Given the description of an element on the screen output the (x, y) to click on. 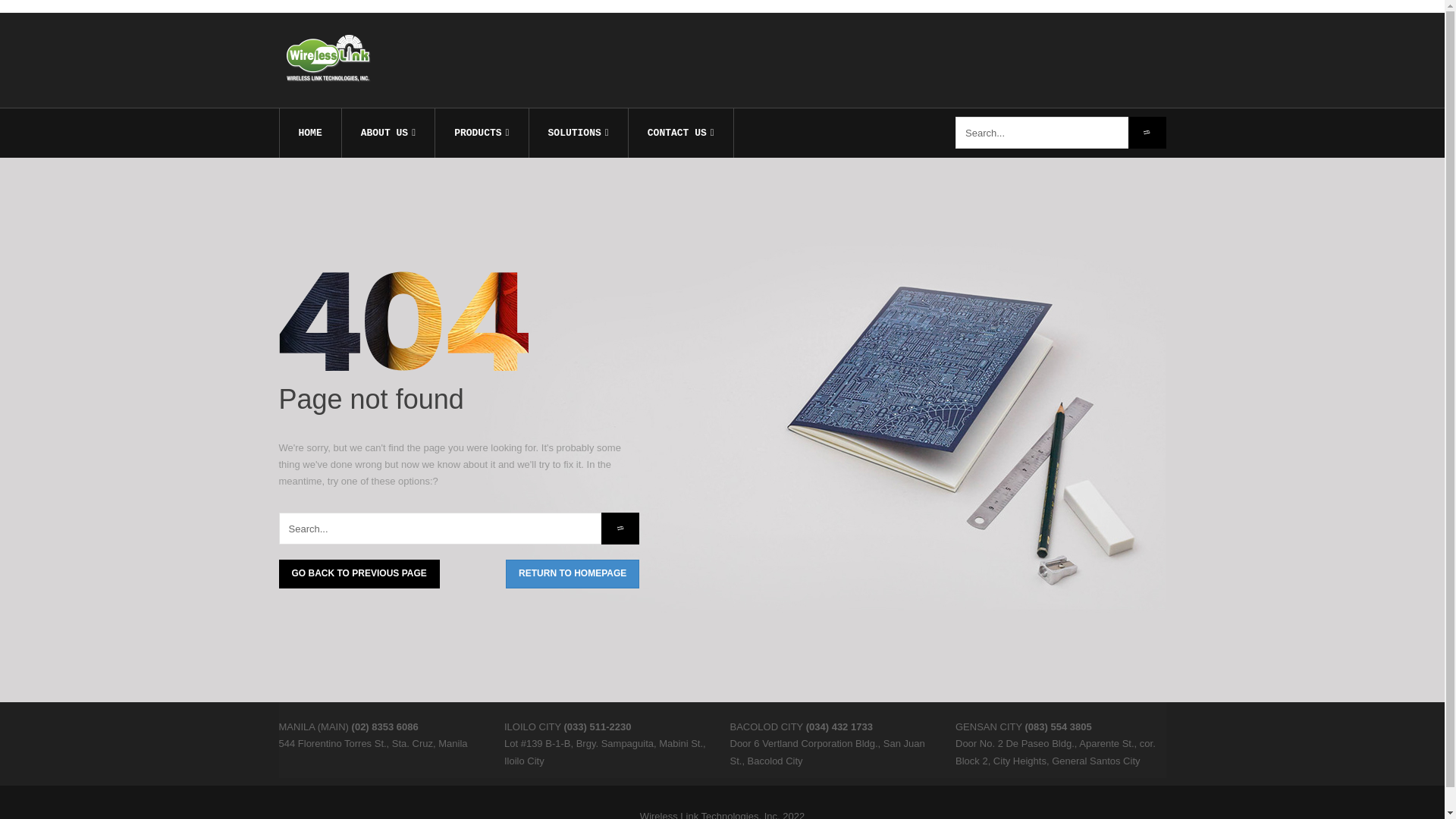
PRODUCTS (481, 133)
SOLUTIONS (578, 133)
ABOUT US (387, 133)
HOME (309, 133)
